Given the description of an element on the screen output the (x, y) to click on. 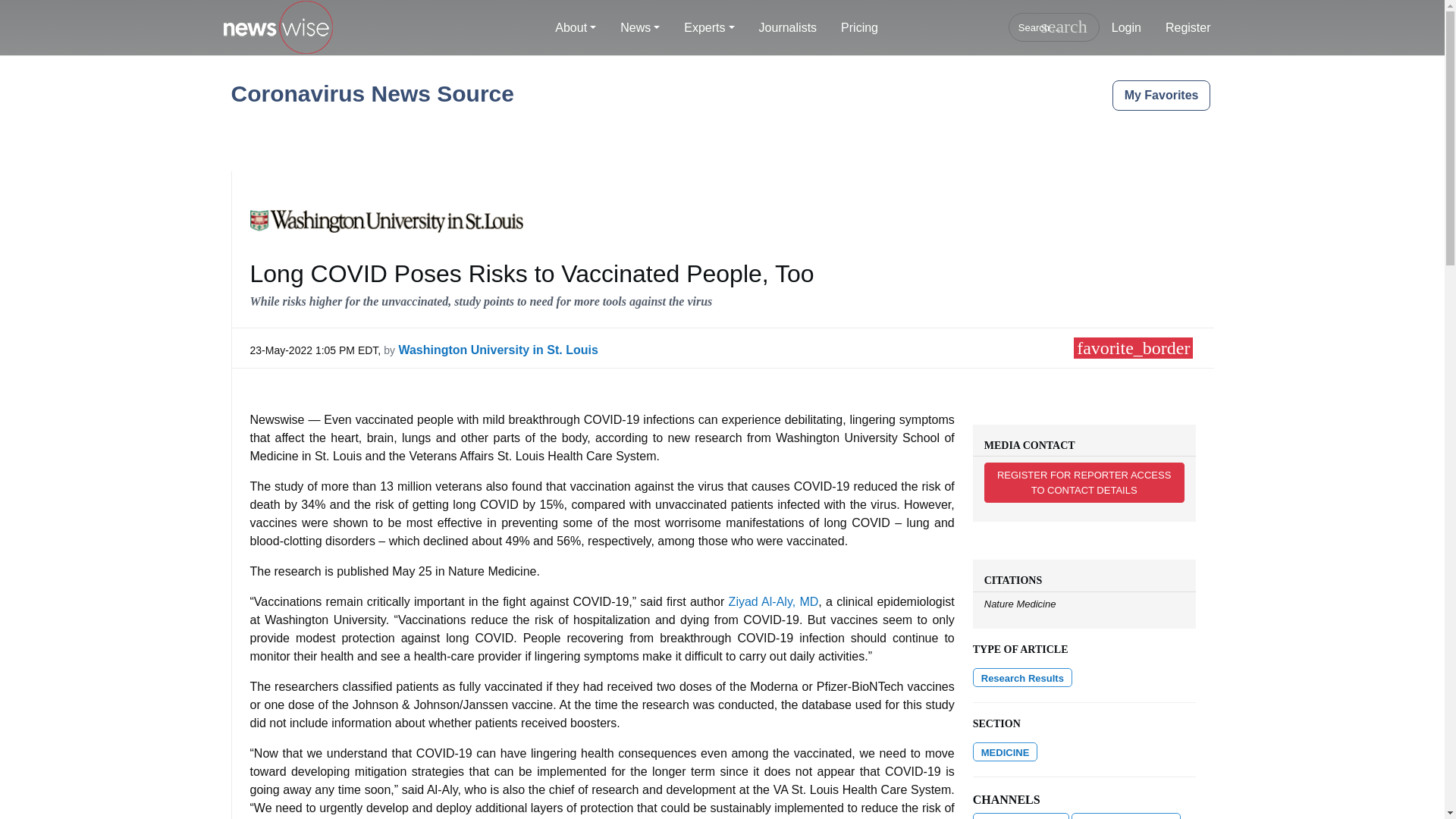
Show all articles in this channel (1020, 816)
Add to Favorites (1133, 347)
News (639, 27)
Show all articles in this channel (1125, 816)
Research Results (1021, 677)
About (575, 27)
Newswise logo (277, 28)
Show all articles in this channel (1005, 751)
